Given the description of an element on the screen output the (x, y) to click on. 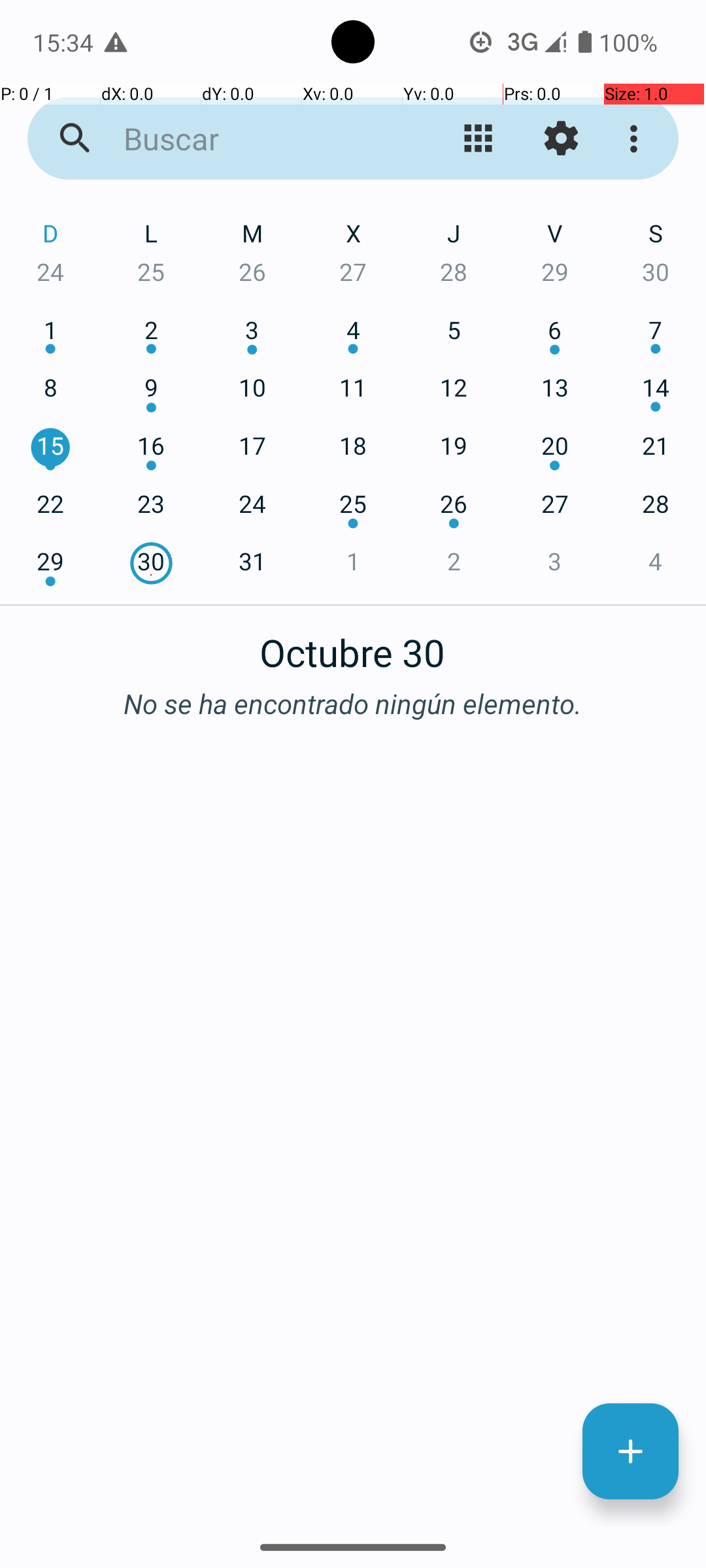
Octubre 30 Element type: android.widget.TextView (352, 644)
No se ha encontrado ningún elemento. Element type: android.widget.TextView (352, 702)
